Given the description of an element on the screen output the (x, y) to click on. 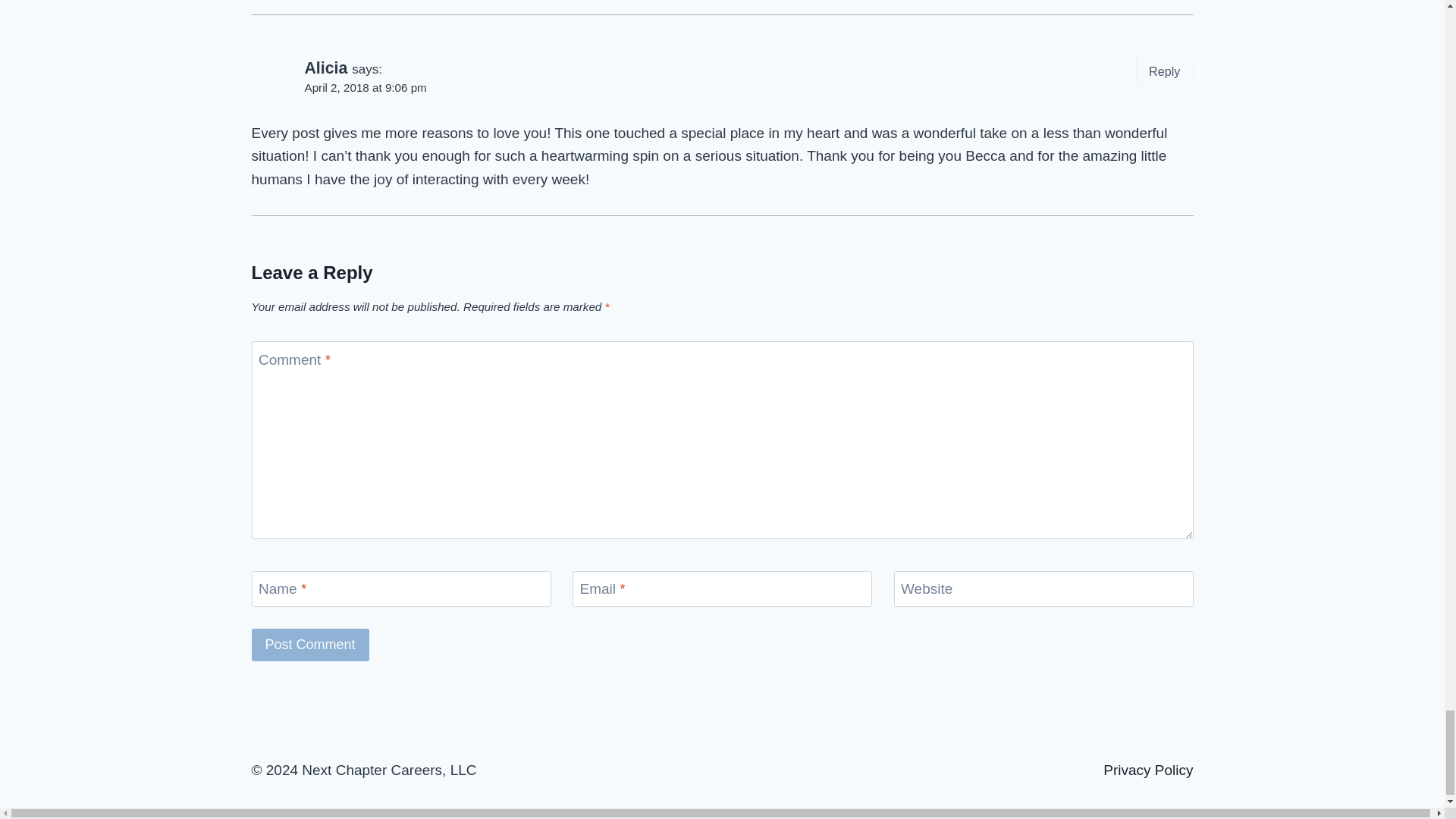
Post Comment (310, 644)
